Given the description of an element on the screen output the (x, y) to click on. 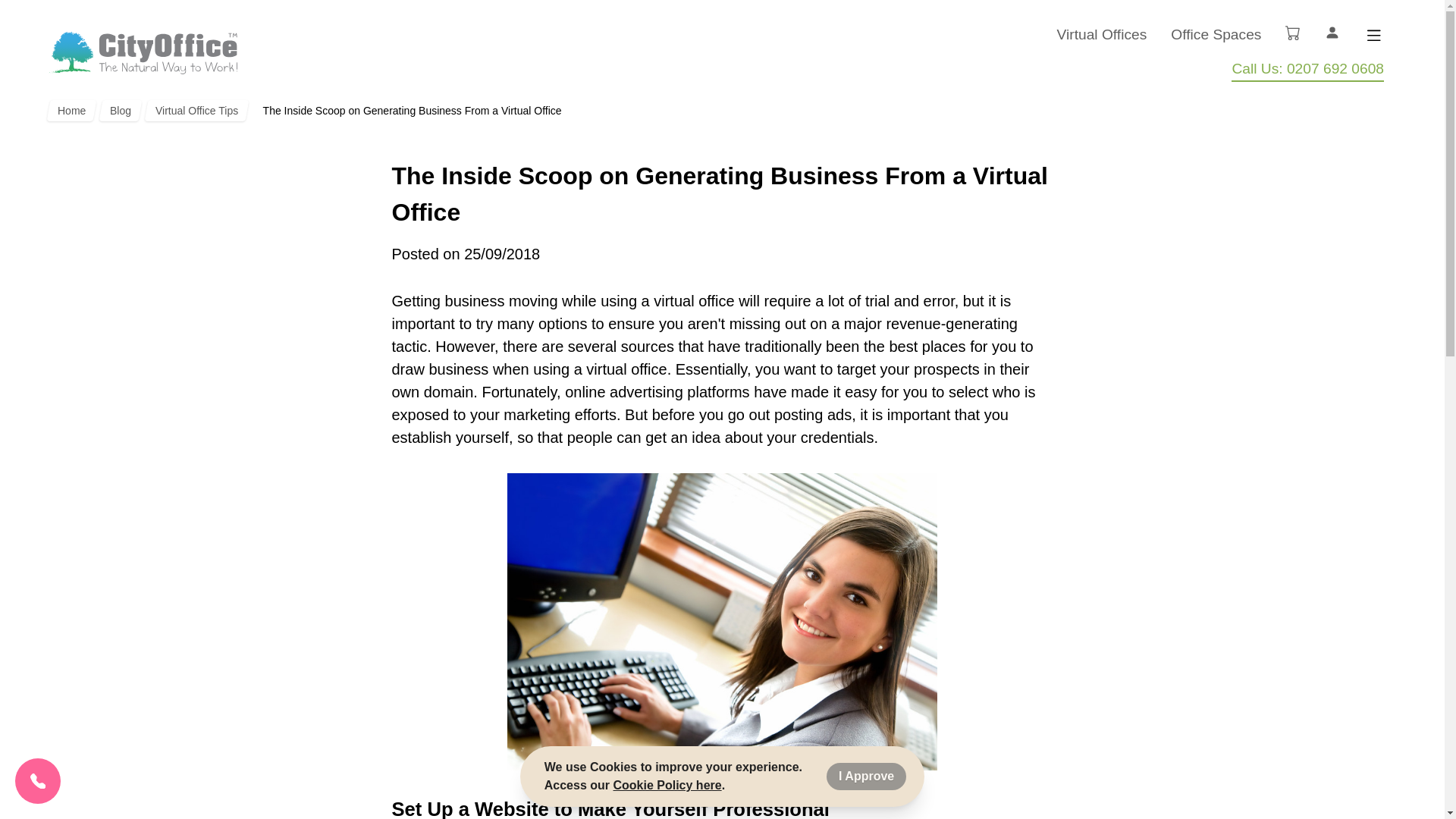
Office Spaces (1215, 34)
Call Us: 0207 692 0608 (1307, 69)
Your City Office Home Page (142, 52)
My Cart (1292, 32)
Virtual Offices (1102, 34)
I Approve (866, 776)
Cookie Policy here (666, 784)
Home (69, 110)
Office Spaces (1215, 34)
Virtual Office Tips (195, 110)
